Given the description of an element on the screen output the (x, y) to click on. 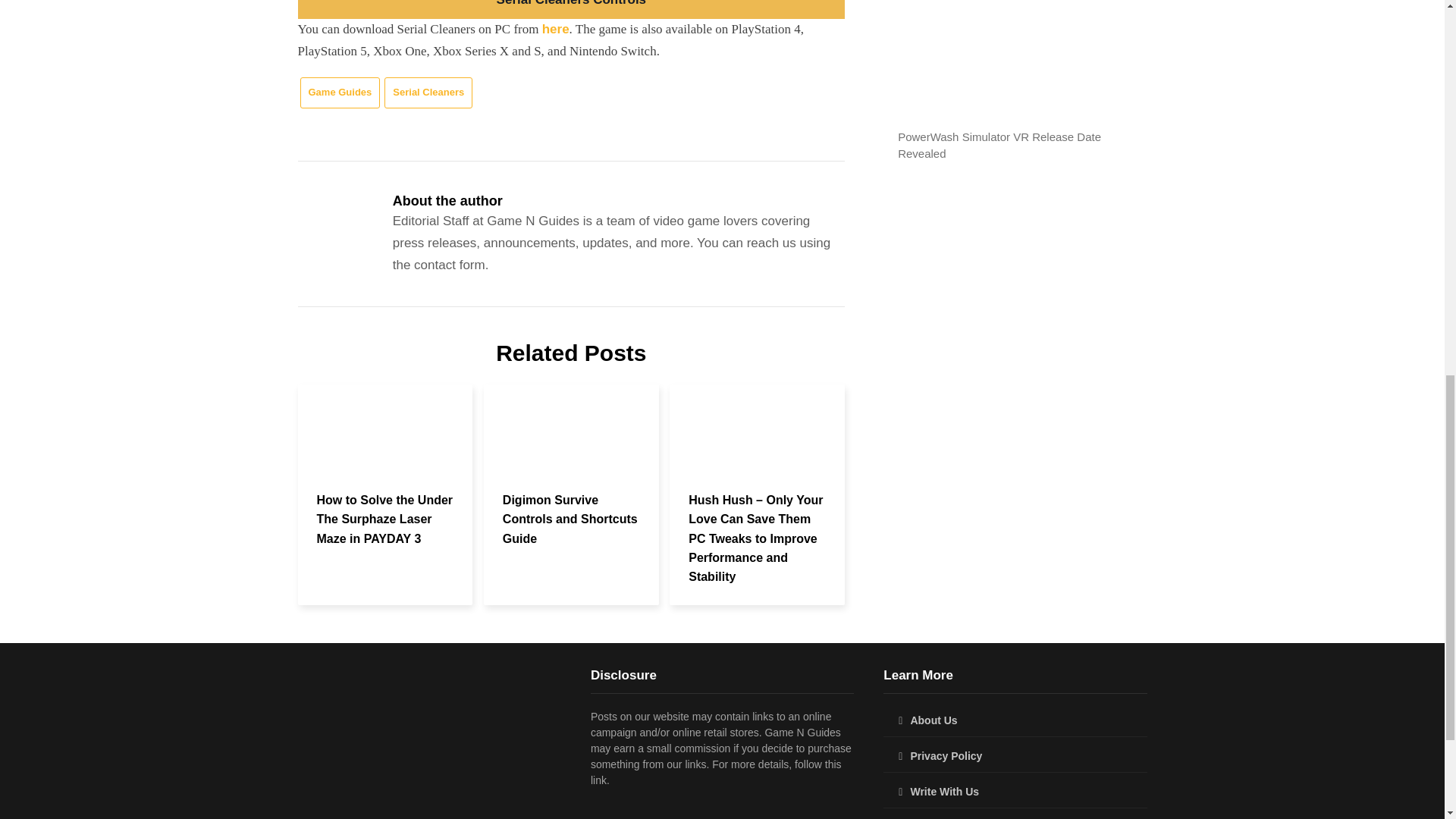
Digimon Survive Controls and Shortcuts Guide (569, 518)
here (555, 29)
PowerWash Simulator VR Release Date Revealed (999, 145)
How to Solve the Under The Surphaze Laser Maze in PAYDAY 3 (384, 518)
Serial Cleaners (427, 92)
Game Guides (339, 92)
